Given the description of an element on the screen output the (x, y) to click on. 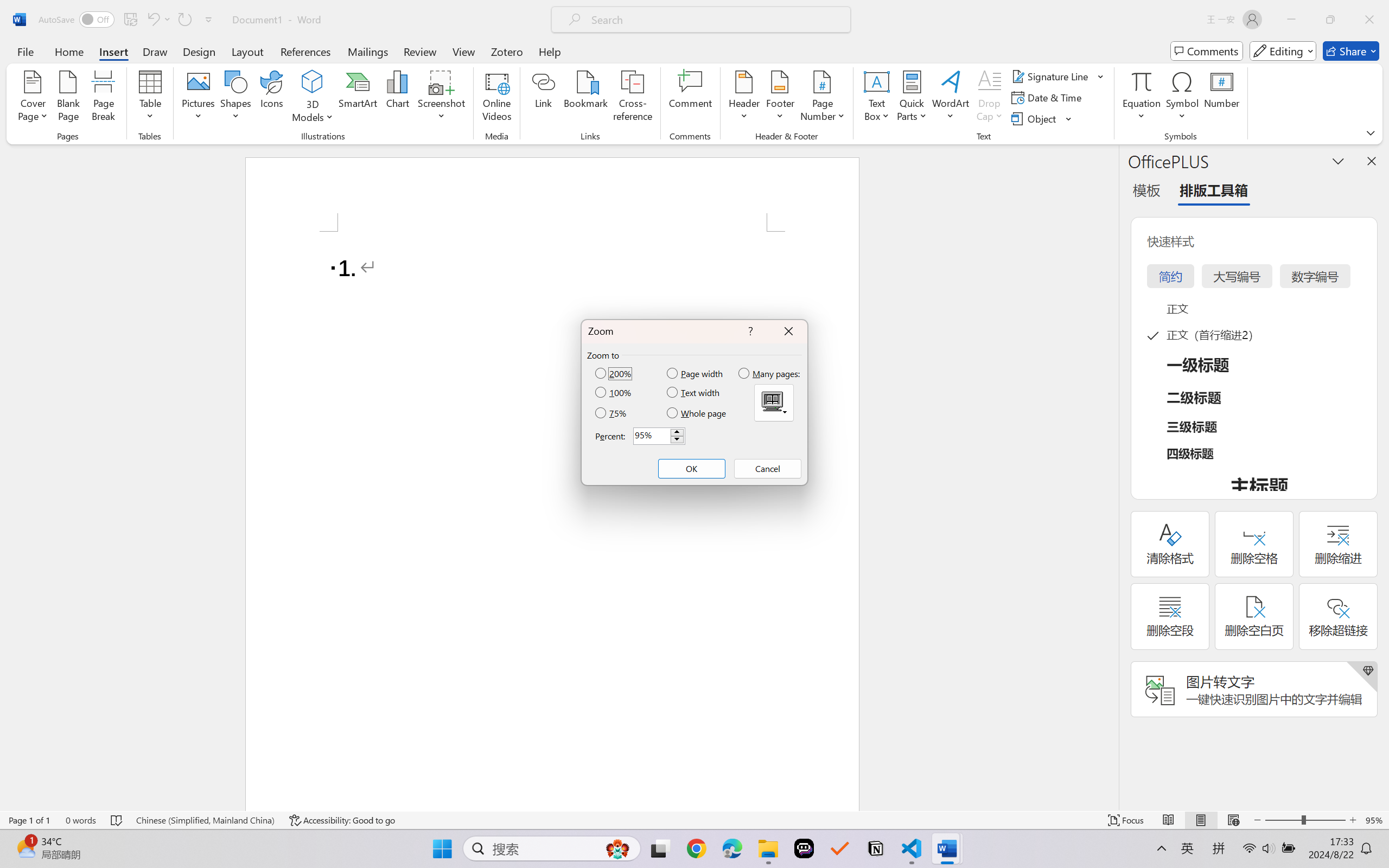
Undo Number Default (152, 19)
Object... (1042, 118)
Equation (1141, 97)
WordArt (950, 97)
Text Box (876, 97)
